Given the description of an element on the screen output the (x, y) to click on. 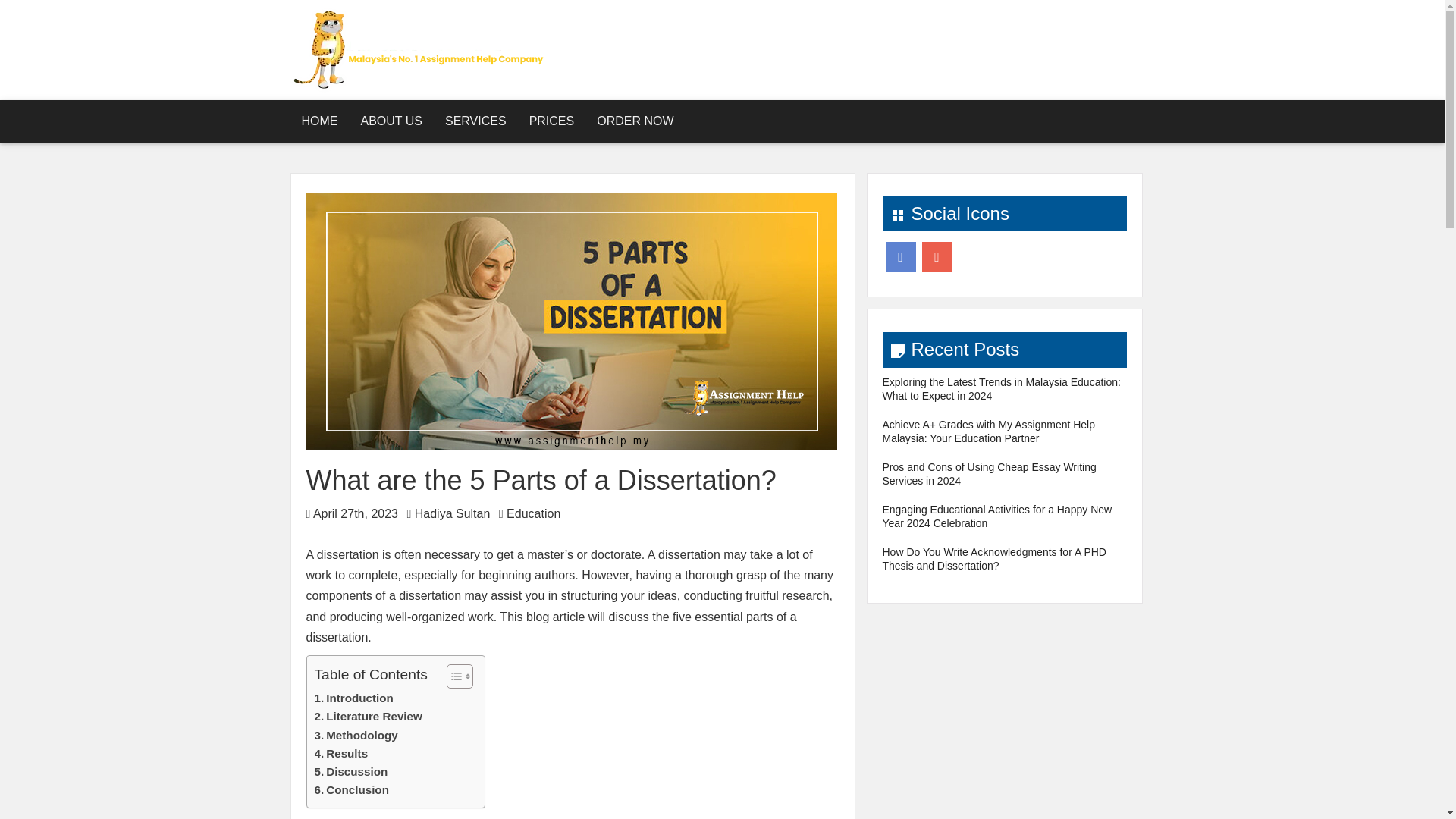
Introduction (353, 698)
Methodology (355, 735)
SERVICES (475, 120)
Facebook (900, 256)
Literature Review (368, 716)
Methodology (355, 735)
Pros and Cons of Using Cheap Essay Writing Services in 2024 (989, 473)
ABOUT US (391, 120)
